Given the description of an element on the screen output the (x, y) to click on. 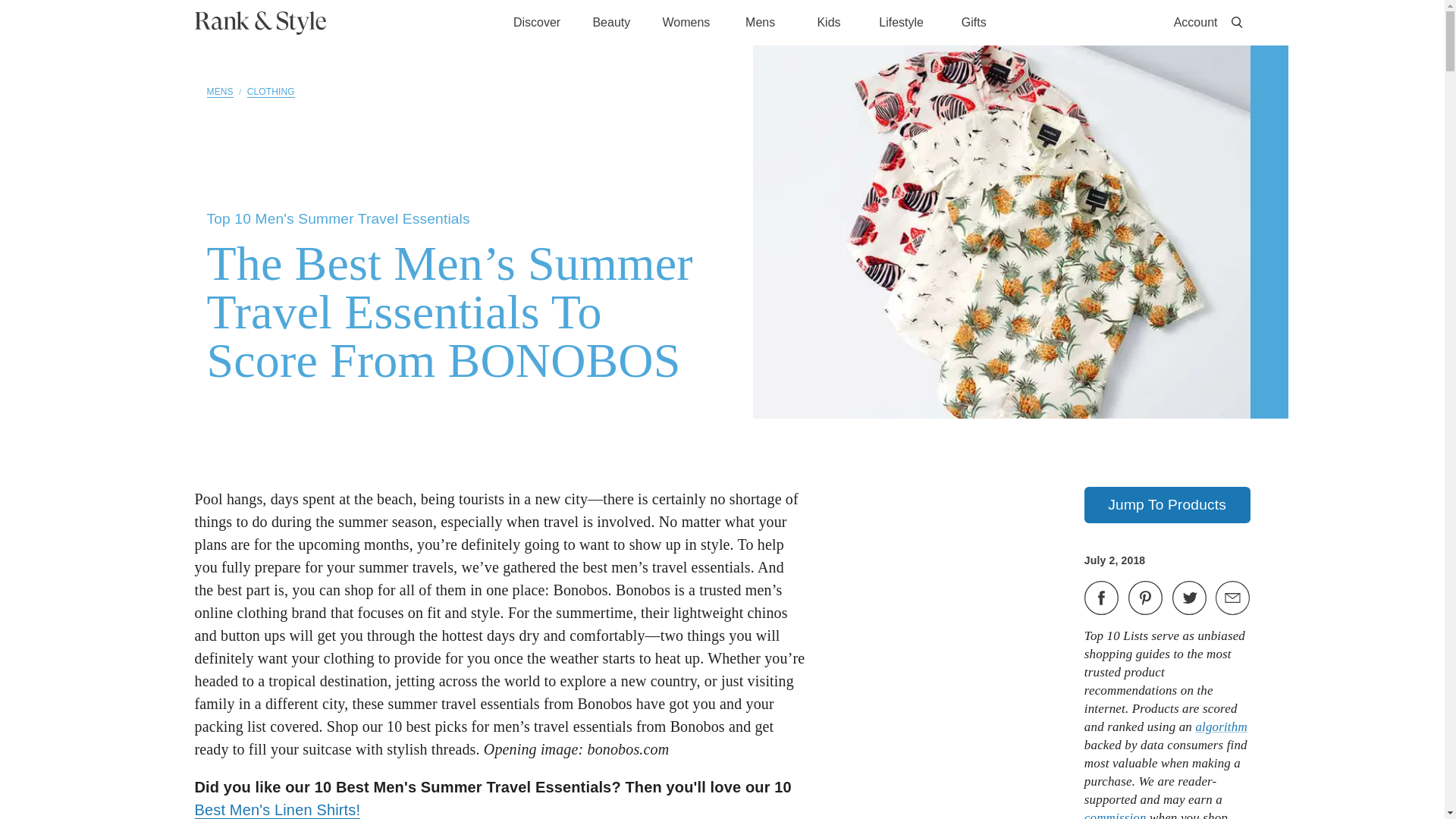
Beauty (611, 21)
Beauty (611, 22)
Womens (686, 21)
Womens (686, 22)
Lifestyle (901, 22)
Mens (760, 22)
Gifts (973, 22)
Best Men's Linen Shirts! (276, 810)
algorithm (1220, 726)
Account (1195, 23)
commission (1115, 814)
Lifestyle (901, 21)
Gifts (973, 21)
Kids (829, 22)
Jump To Products (1167, 504)
